Given the description of an element on the screen output the (x, y) to click on. 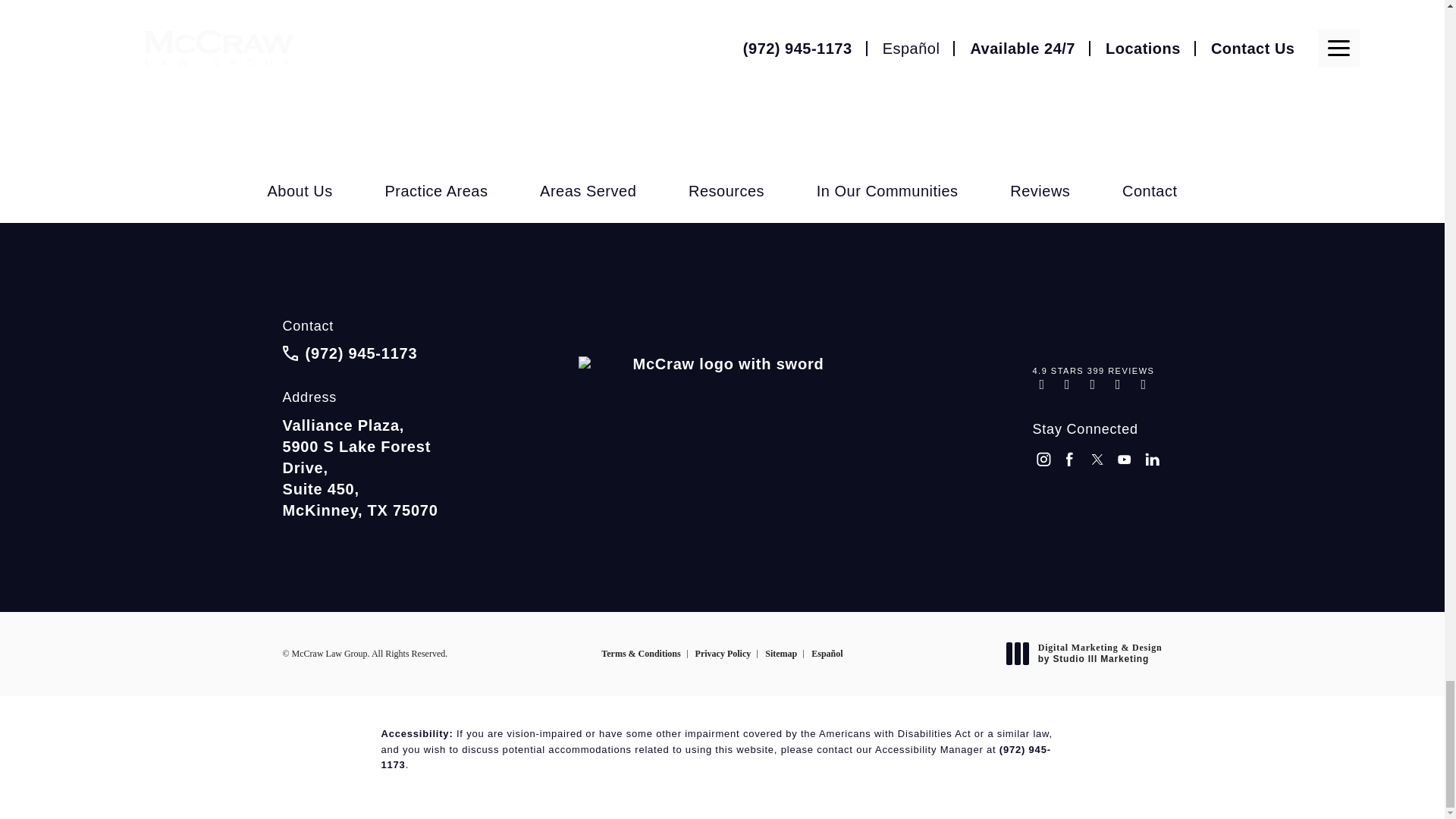
McCraw Law Group on Twitter (1098, 460)
McCraw Law Group on Facebook (1071, 460)
McCraw Law Group on Instagram (1042, 460)
McCraw Law Group on Linkedin (1152, 460)
McCraw Law Group on Youtube (1125, 460)
